Given the description of an element on the screen output the (x, y) to click on. 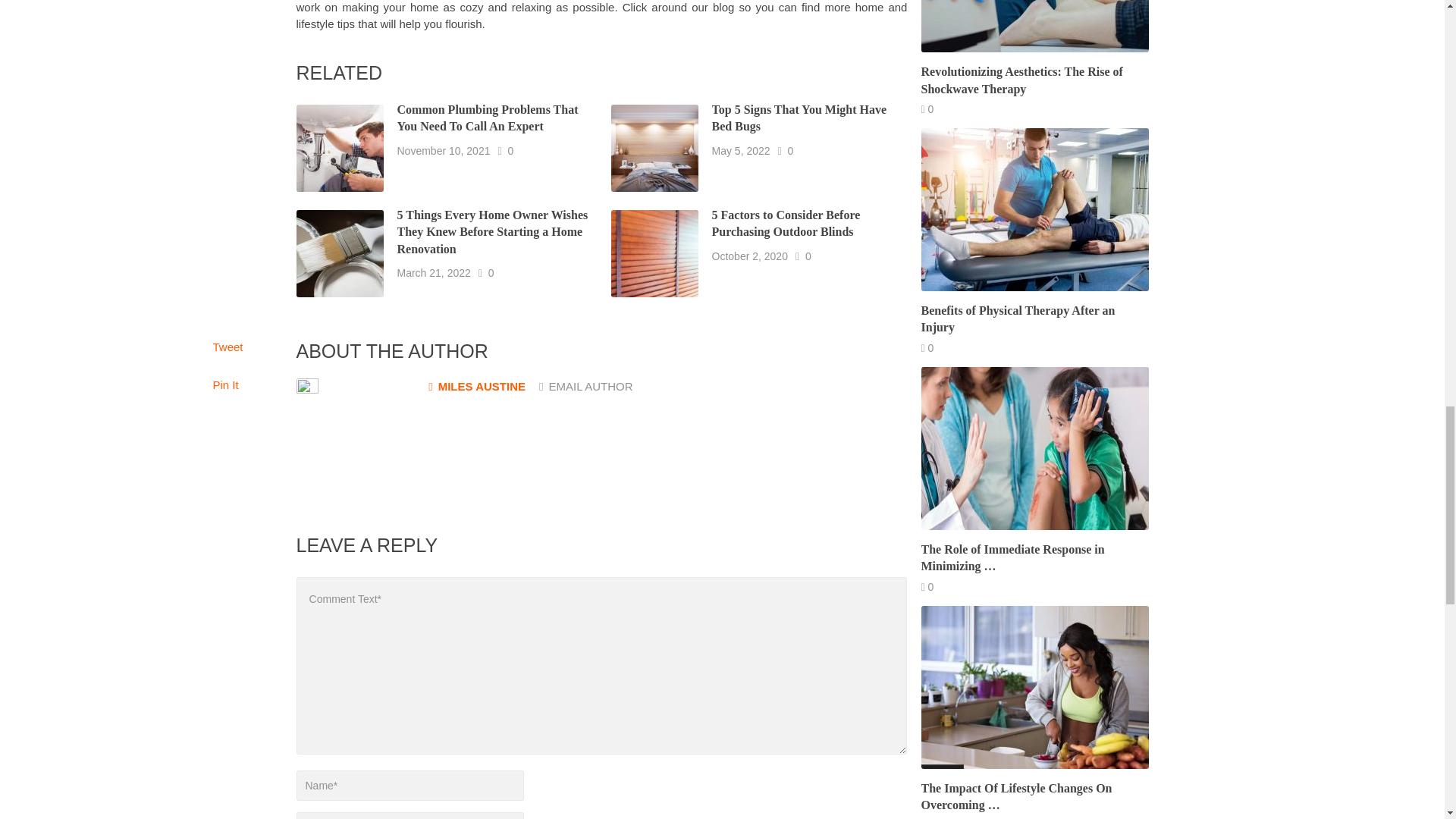
Top 5 Signs That You Might Have Bed Bugs (798, 118)
Common Plumbing Problems That You Need To Call An Expert (487, 118)
5 Factors to Consider Before Purchasing Outdoor Blinds (785, 223)
